Given the description of an element on the screen output the (x, y) to click on. 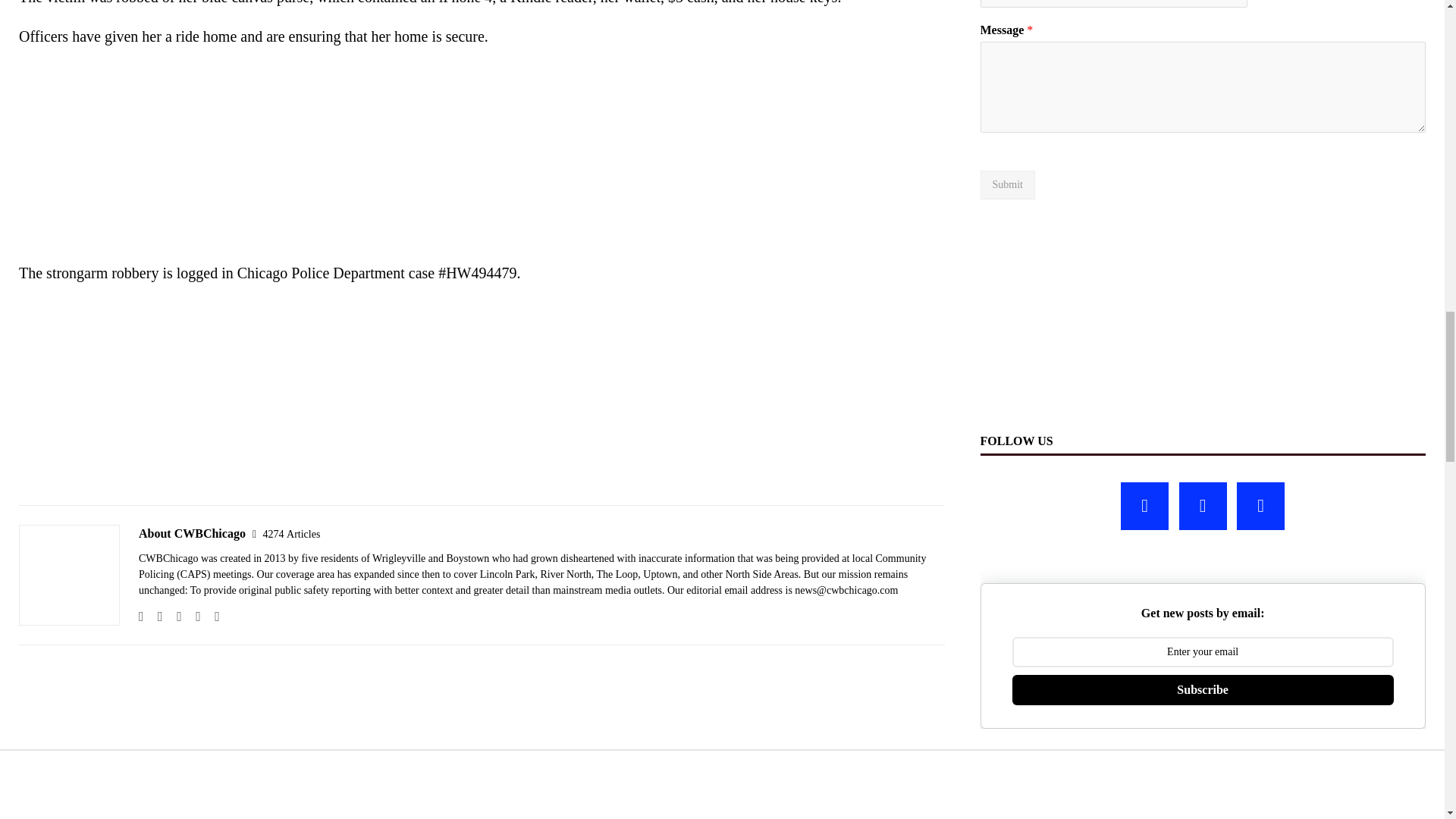
Follow CWBChicago on Facebook (155, 616)
4274 Articles (291, 533)
Follow CWBChicago on Twitter (192, 616)
Follow CWBChicago on Instagram (173, 616)
Subscribe (1202, 689)
Submit (1007, 184)
Follow CWBChicago on YouTube (211, 616)
More articles written by CWBChicago' (291, 533)
